Given the description of an element on the screen output the (x, y) to click on. 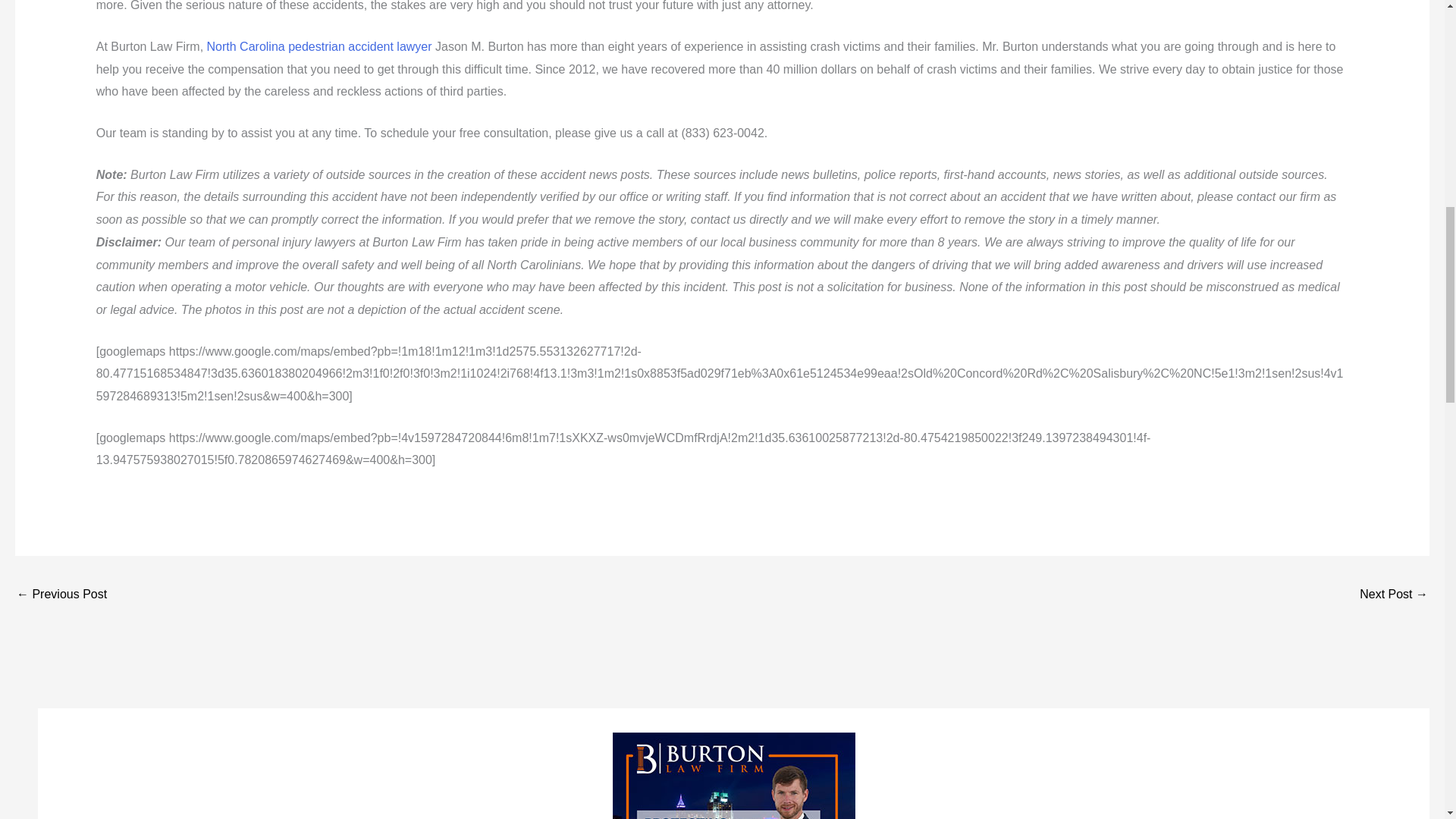
North Carolina pedestrian accident lawyer (319, 46)
